Given the description of an element on the screen output the (x, y) to click on. 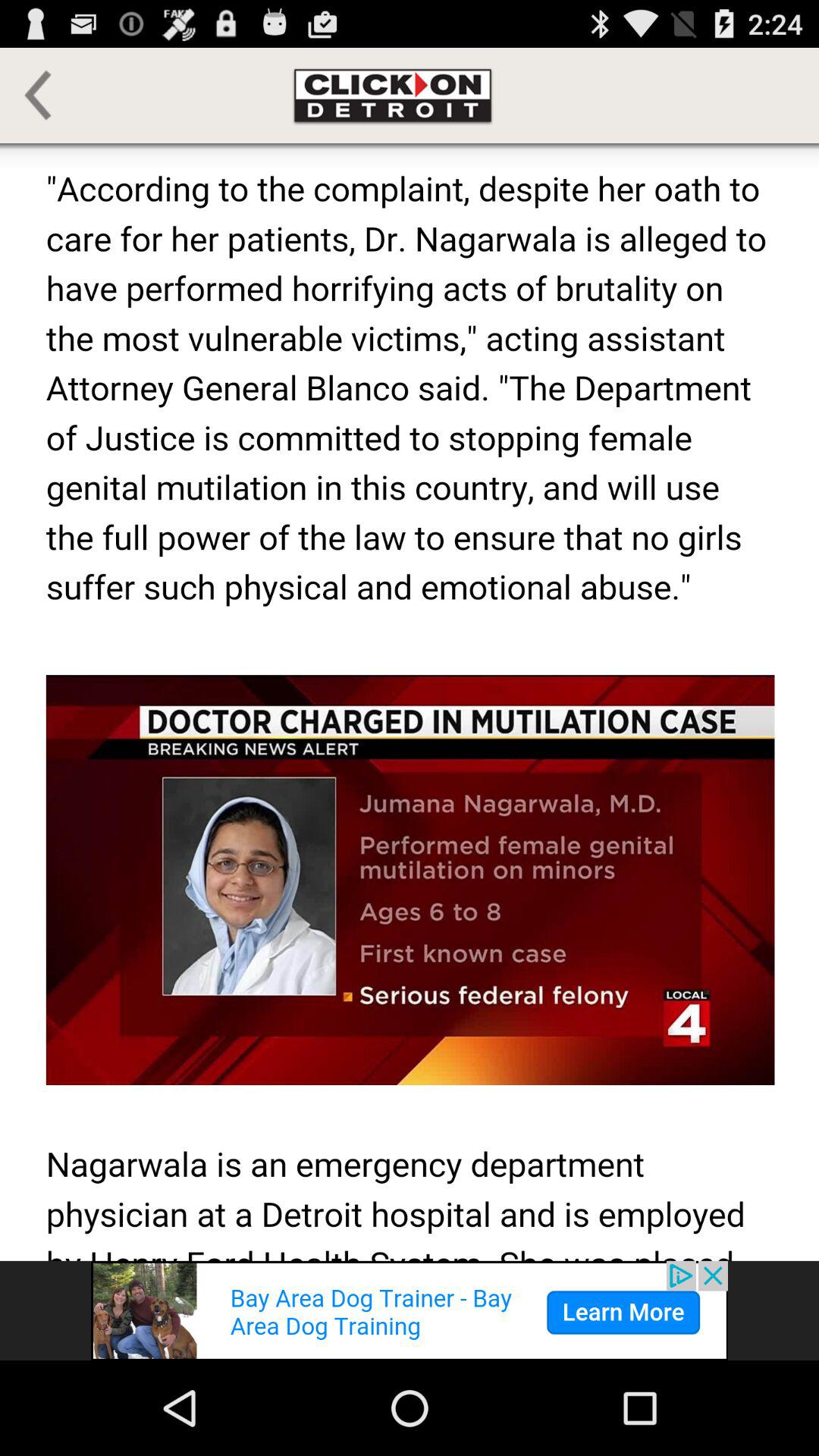
open advertisement (409, 1310)
